Given the description of an element on the screen output the (x, y) to click on. 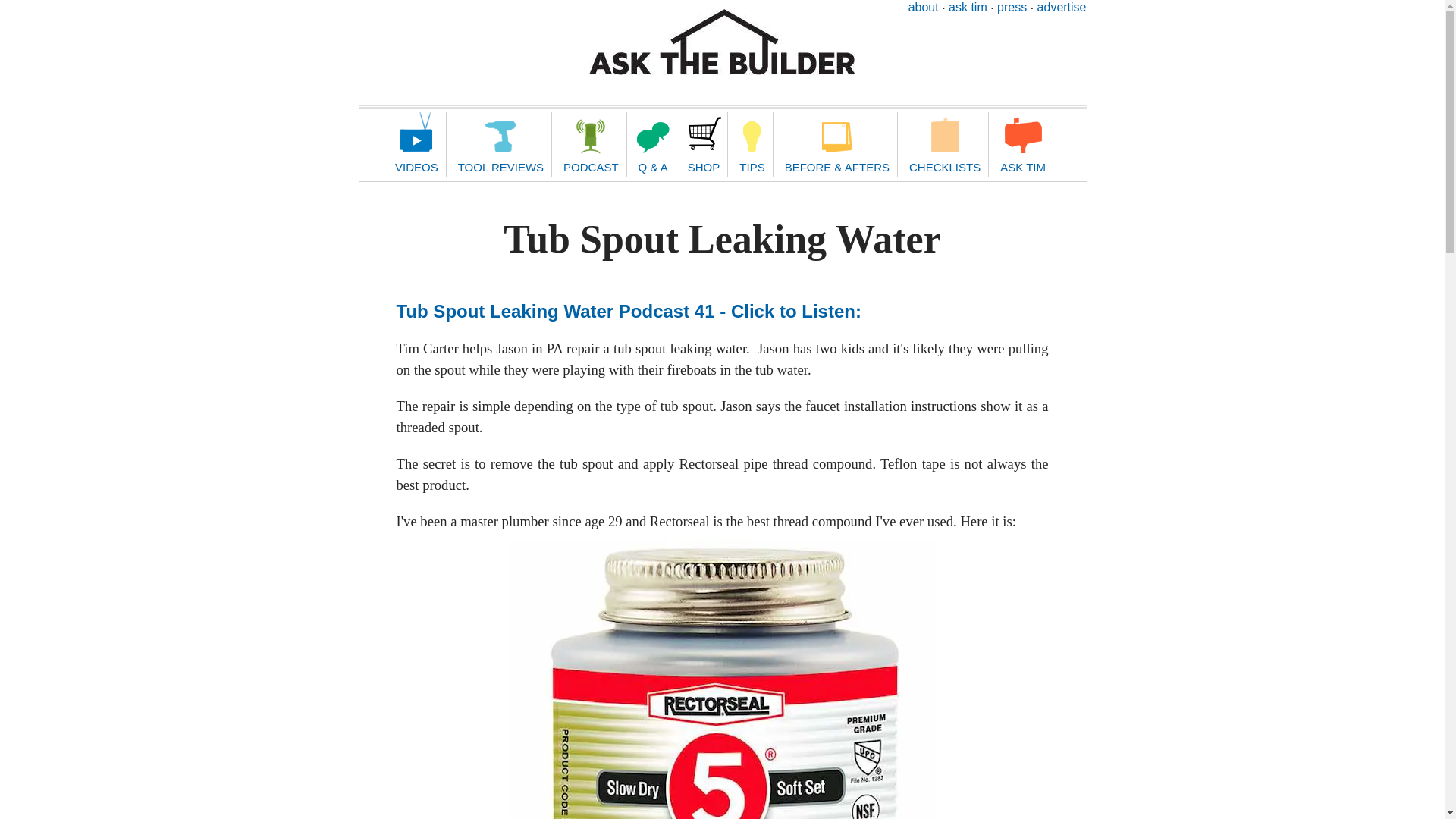
press (1011, 6)
ask tim (968, 6)
about (923, 6)
TOOL REVIEWS (499, 144)
ASK TIM (1022, 144)
PODCAST (590, 144)
VIDEOS (416, 144)
CHECKLISTS (943, 144)
advertise (1061, 6)
Tub Spout Leaking Water Podcast 41 - Click to Listen: (628, 311)
